Given the description of an element on the screen output the (x, y) to click on. 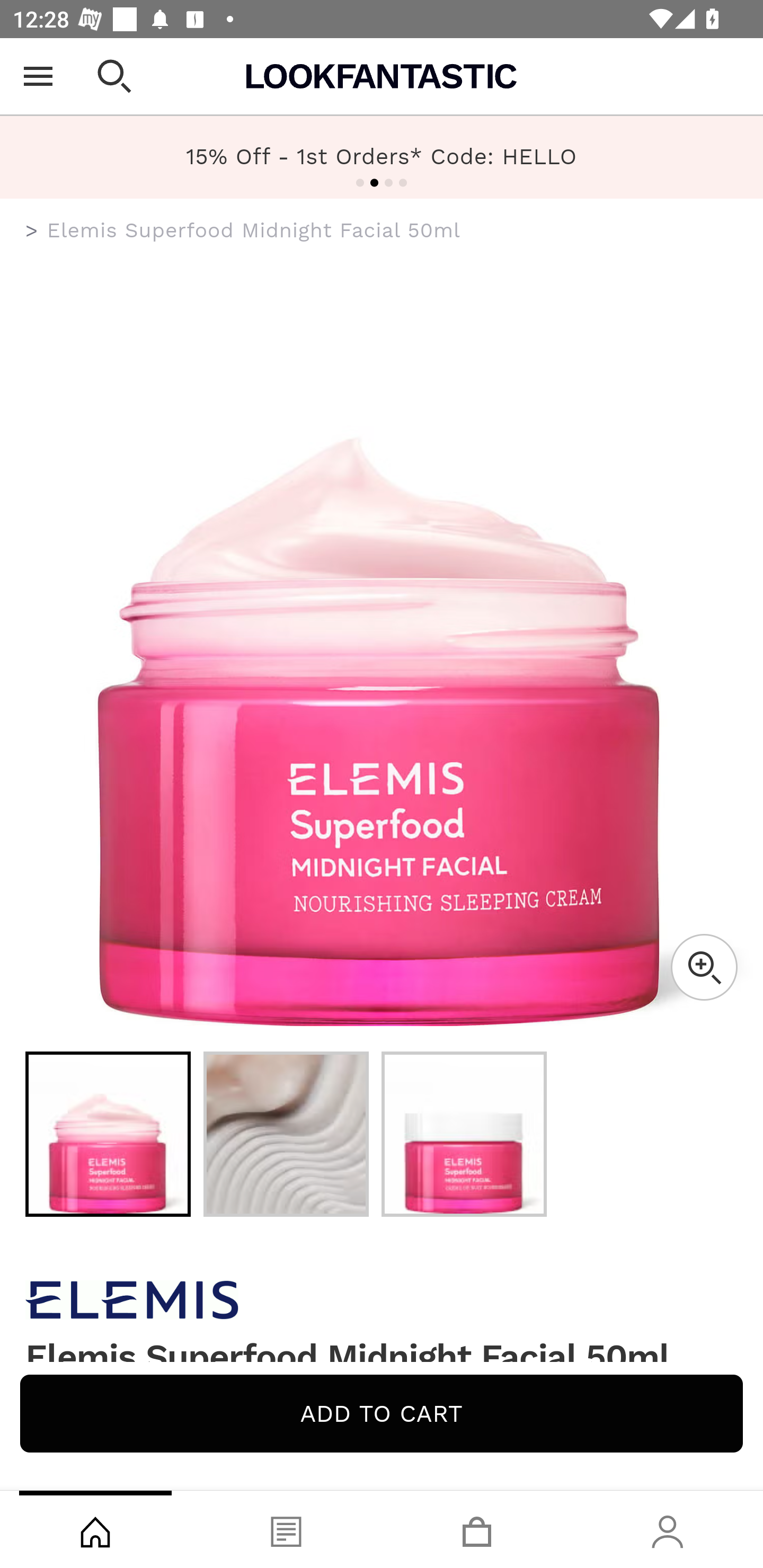
Open Menu (38, 75)
Open search (114, 75)
Lookfantastic USA (381, 75)
FREE US Shipping Over $40 (381, 157)
us.lookfantastic (32, 230)
Zoom (703, 966)
Elemis (381, 1299)
Add to cart (381, 1413)
Shop, tab, 1 of 4 (95, 1529)
Blog, tab, 2 of 4 (285, 1529)
Basket, tab, 3 of 4 (476, 1529)
Account, tab, 4 of 4 (667, 1529)
